Given the description of an element on the screen output the (x, y) to click on. 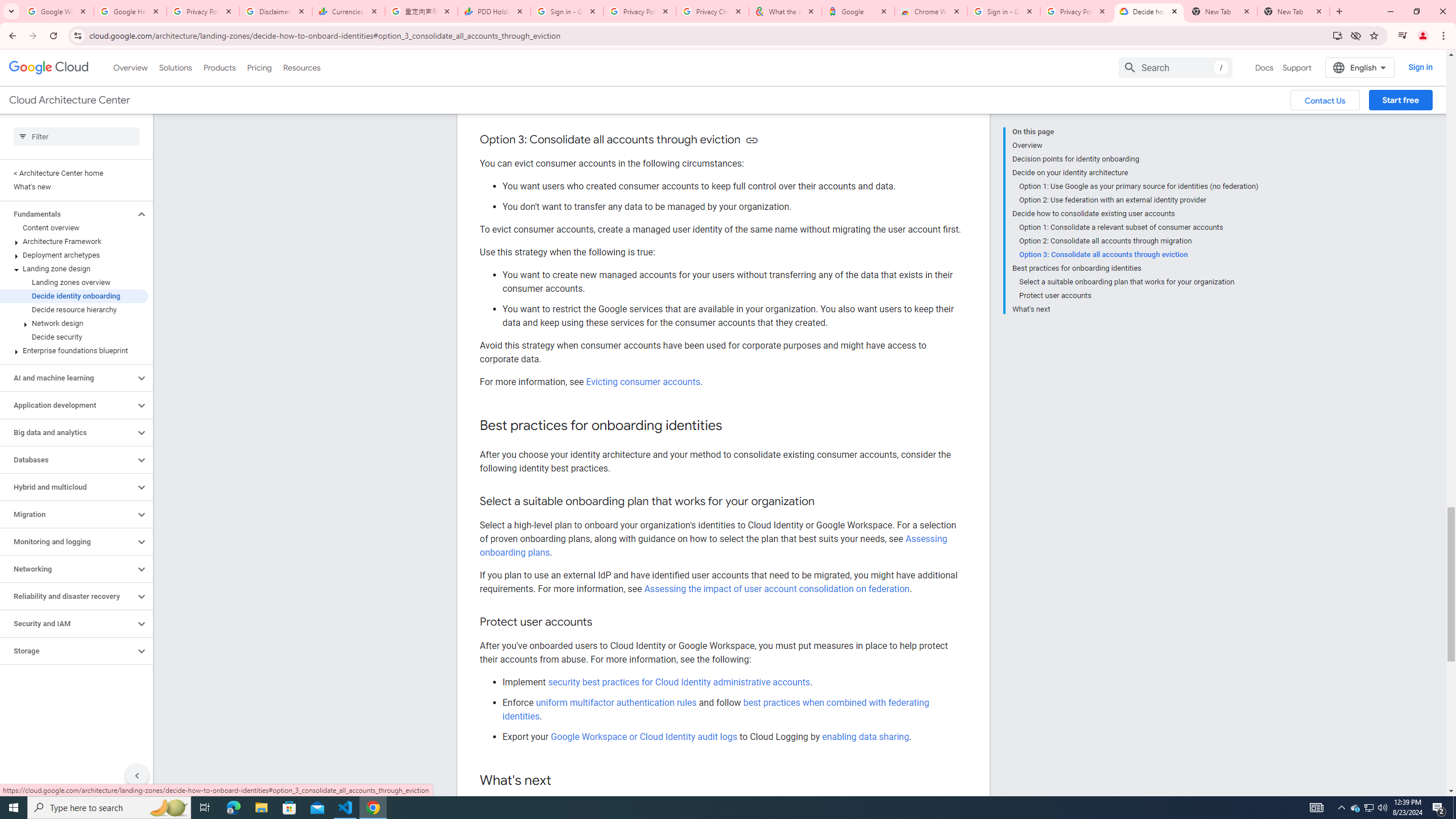
Decide resource hierarchy (74, 309)
Big data and analytics (67, 432)
Option 3: Consolidate all accounts through eviction (1138, 254)
best practices when combined with federating identities (715, 708)
AI and machine learning (67, 377)
Reliability and disaster recovery (67, 596)
